Given the description of an element on the screen output the (x, y) to click on. 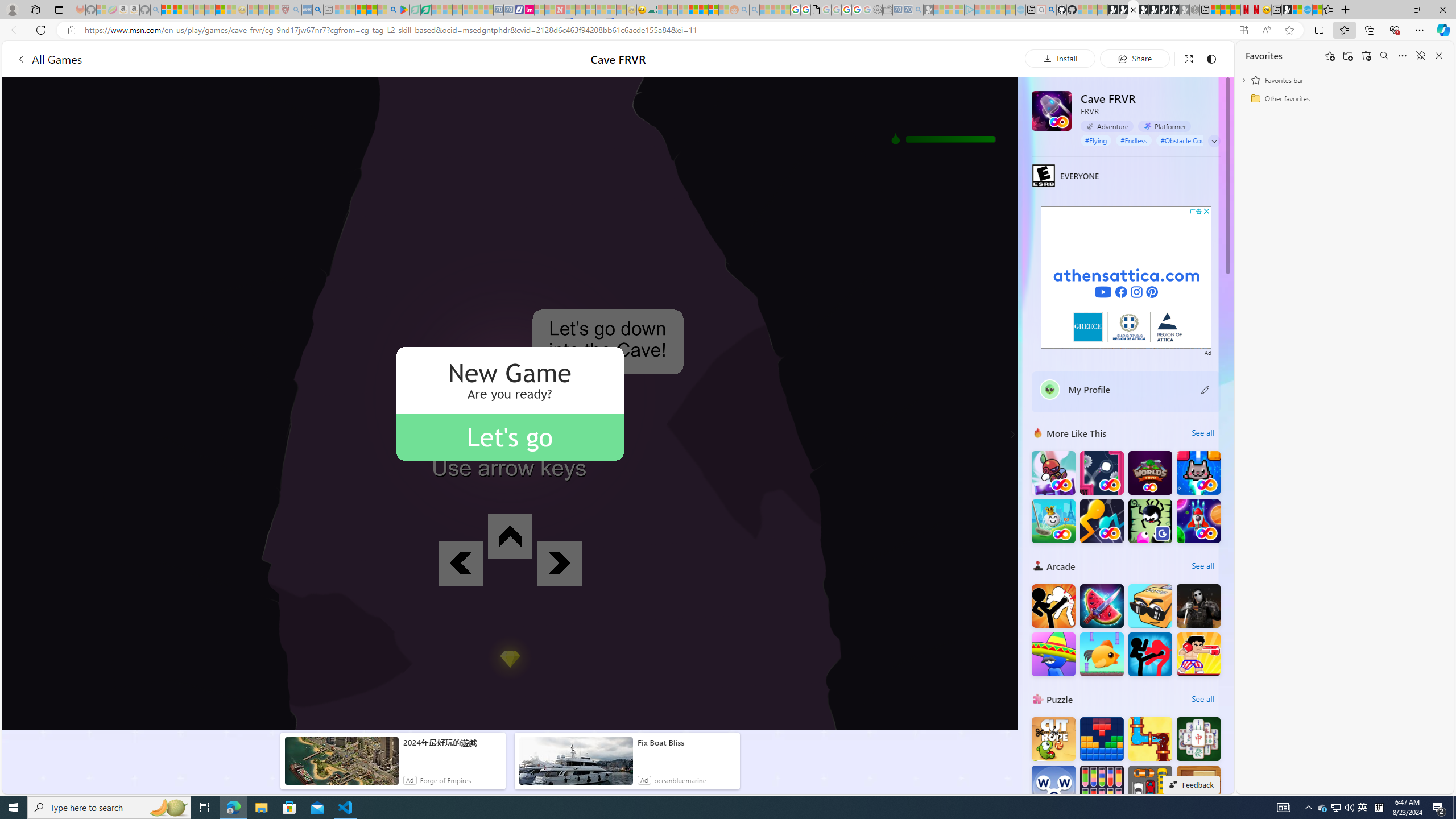
Full screen (1187, 58)
Search favorites (1383, 55)
See all (1202, 698)
#Endless (1133, 140)
Expert Portfolios (692, 9)
